Given the description of an element on the screen output the (x, y) to click on. 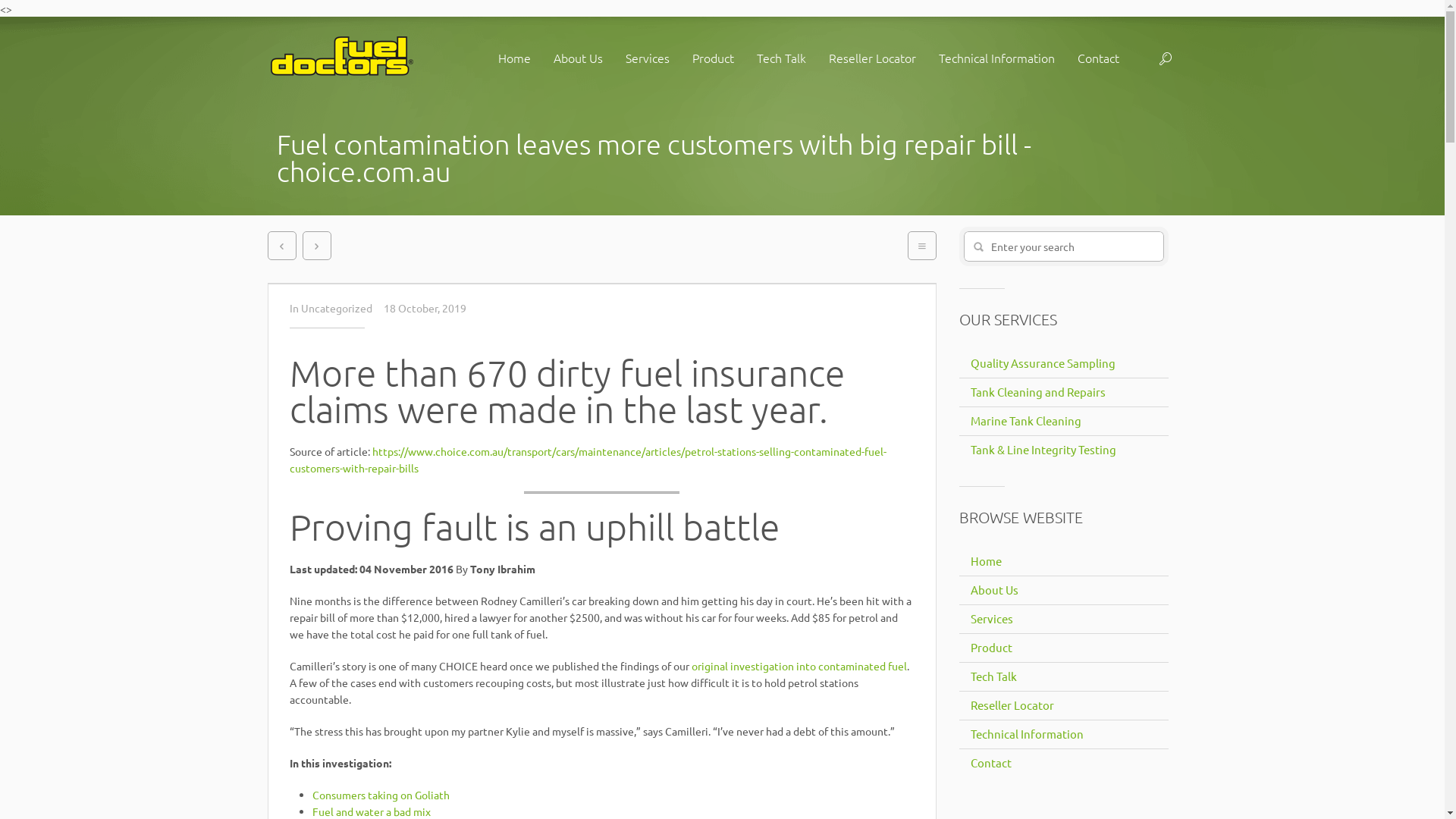
Consumers taking on Goliath Element type: text (380, 794)
Product Element type: text (988, 647)
Tech Talk Element type: text (780, 57)
Uncategorized Element type: text (336, 307)
Technical Information Element type: text (1024, 733)
Contact Element type: text (988, 762)
About Us Element type: text (577, 57)
Marine Tank Cleaning Element type: text (1023, 420)
Quality Assurance Sampling Element type: text (1040, 362)
Reseller Locator Element type: text (872, 57)
About Us Element type: text (991, 589)
Fuel Doctors Element type: hover (341, 58)
Tank Cleaning and Repairs Element type: text (1035, 391)
Tech Talk Element type: text (990, 676)
Services Element type: text (988, 618)
Fuel and water a bad mix Element type: text (371, 811)
Reseller Locator Element type: text (1009, 704)
Contact Element type: text (1098, 57)
Tank & Line Integrity Testing Element type: text (1040, 449)
original investigation into contaminated fuel Element type: text (798, 665)
Home Element type: text (983, 560)
Search Element type: text (978, 246)
Home Element type: text (514, 57)
Technical Information Element type: text (995, 57)
Product Element type: text (712, 57)
Services Element type: text (647, 57)
